Given the description of an element on the screen output the (x, y) to click on. 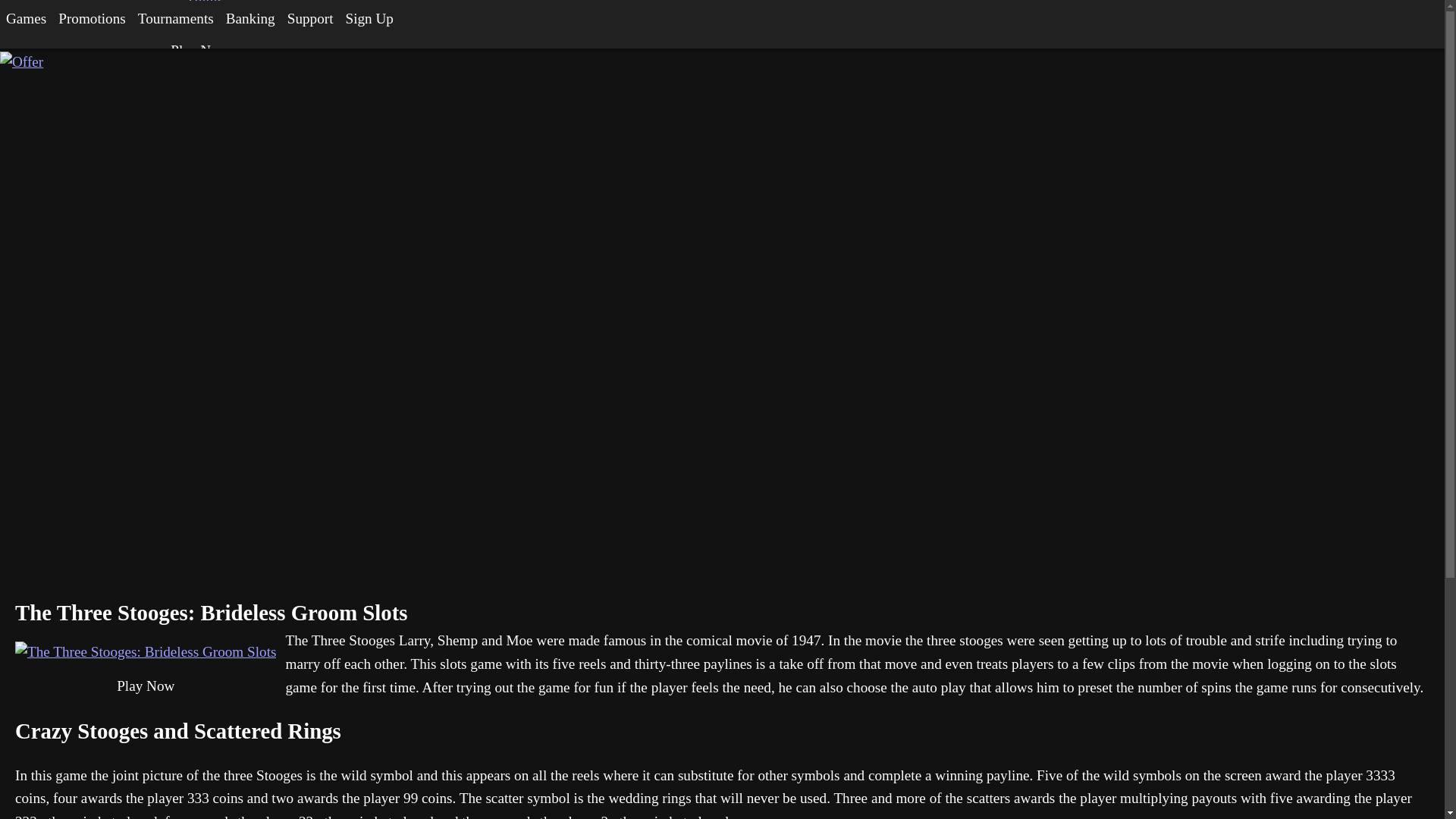
Play Now (199, 51)
Tournaments (175, 18)
Support (310, 18)
Promotions (92, 18)
Play Now (145, 686)
Sign Up (368, 18)
Banking (250, 18)
Games (26, 18)
